Given the description of an element on the screen output the (x, y) to click on. 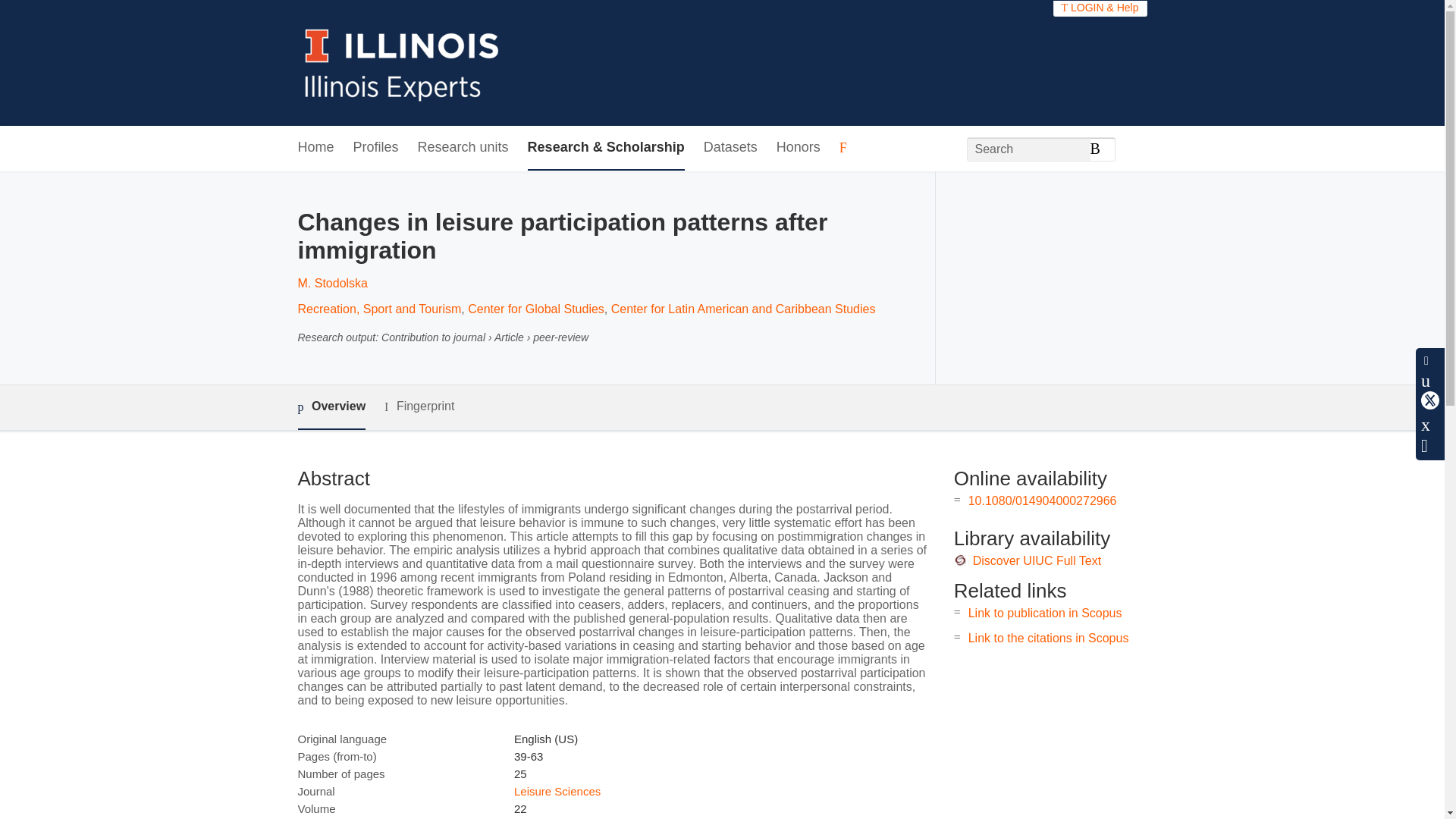
Link to the citations in Scopus (1048, 637)
M. Stodolska (331, 282)
Center for Global Studies (535, 308)
Discover UIUC Full Text (1037, 560)
Honors (798, 148)
Leisure Sciences (556, 790)
Research units (462, 148)
University of Illinois Urbana-Champaign Home (402, 62)
Overview (331, 406)
Fingerprint (419, 406)
Link to publication in Scopus (1045, 612)
Datasets (730, 148)
Recreation, Sport and Tourism (379, 308)
Profiles (375, 148)
